Given the description of an element on the screen output the (x, y) to click on. 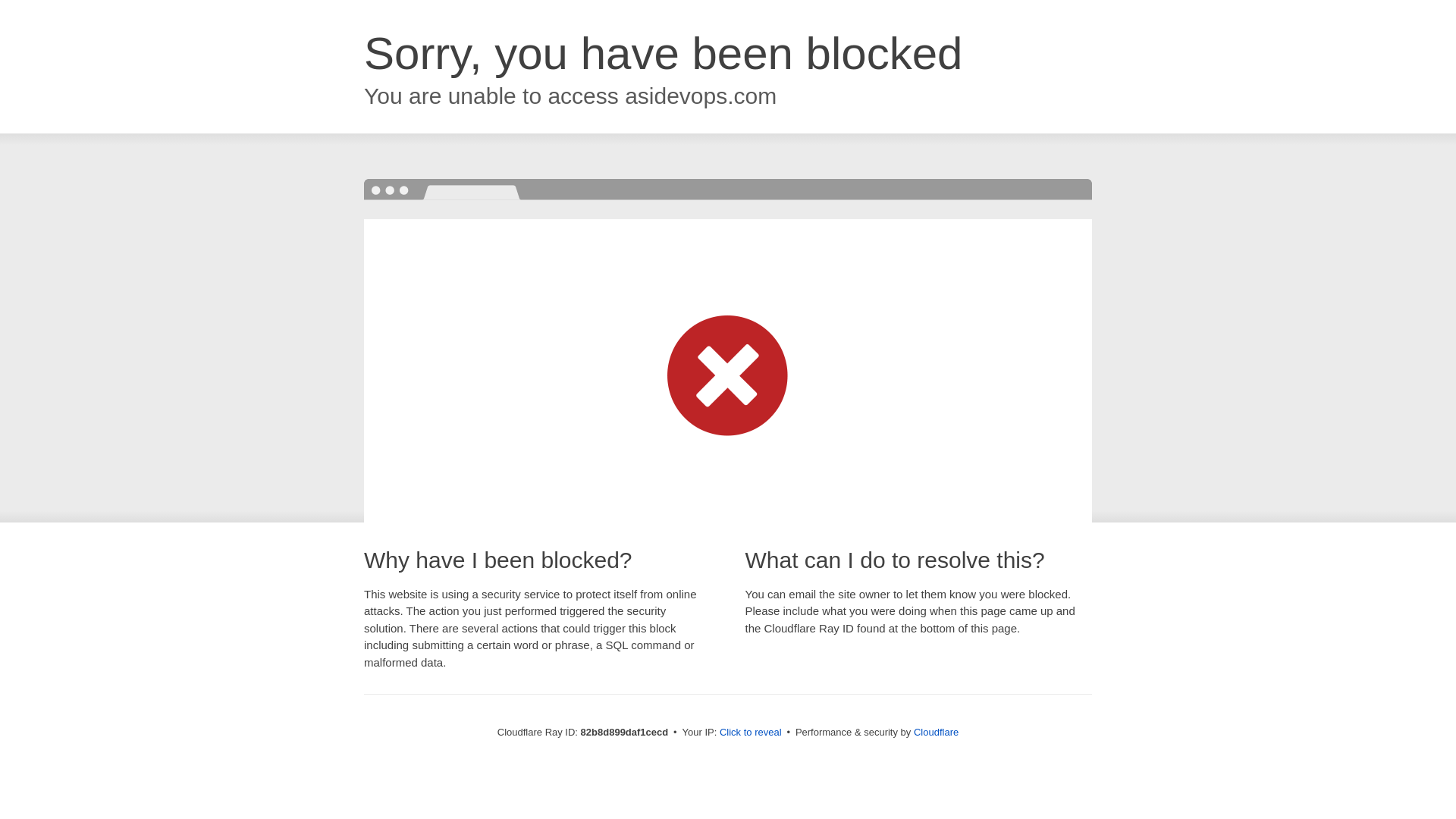
Click to reveal Element type: text (750, 732)
Cloudflare Element type: text (935, 731)
